Given the description of an element on the screen output the (x, y) to click on. 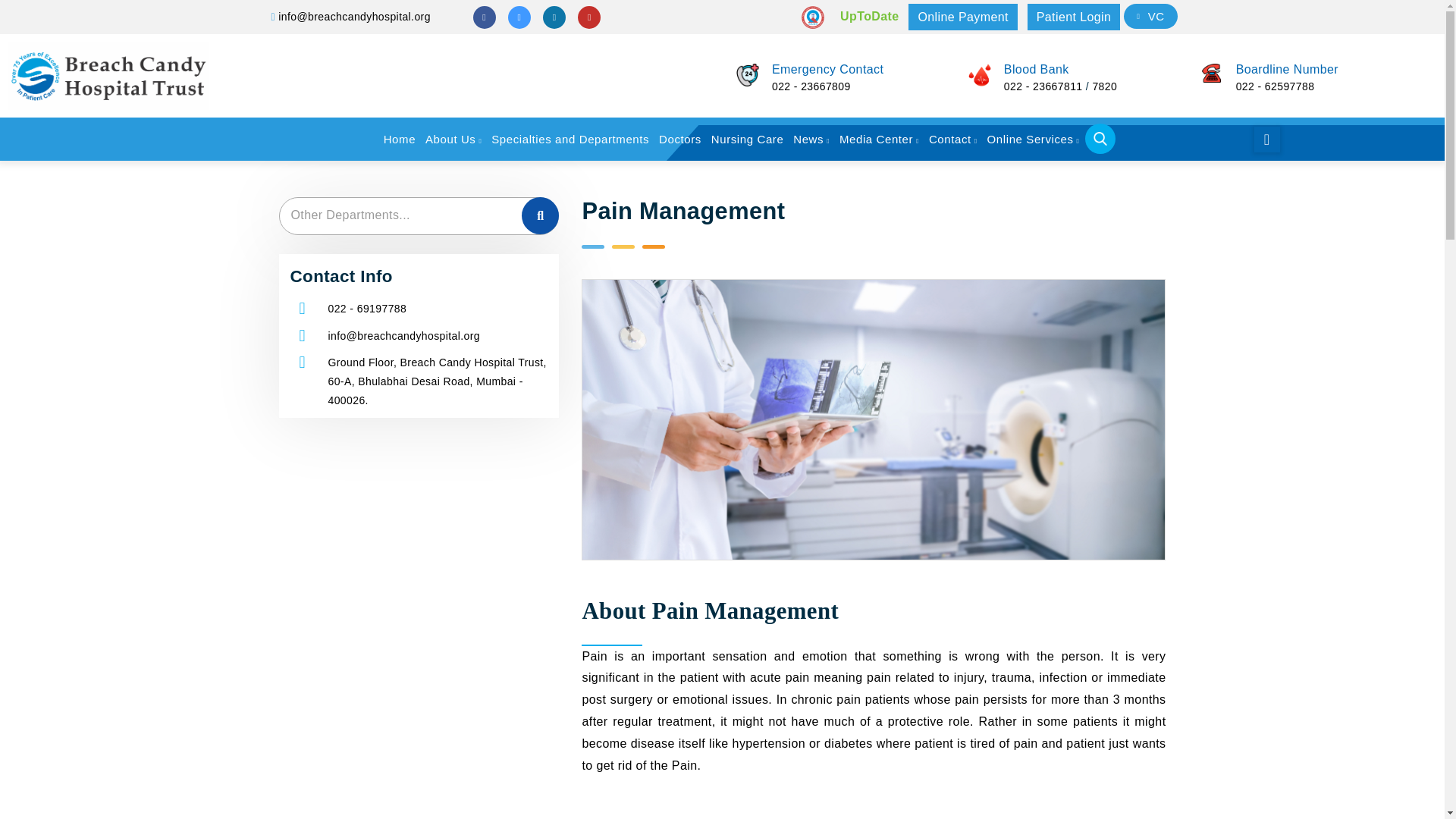
022 - 23667809 (810, 86)
Virtual Consultation (1150, 16)
UpToDate (866, 16)
Patient Login (1074, 17)
Online Payment (962, 17)
022 - 23667811 (1043, 86)
VC (1150, 15)
7820 (1104, 86)
022 - 62597788 (1275, 86)
